Given the description of an element on the screen output the (x, y) to click on. 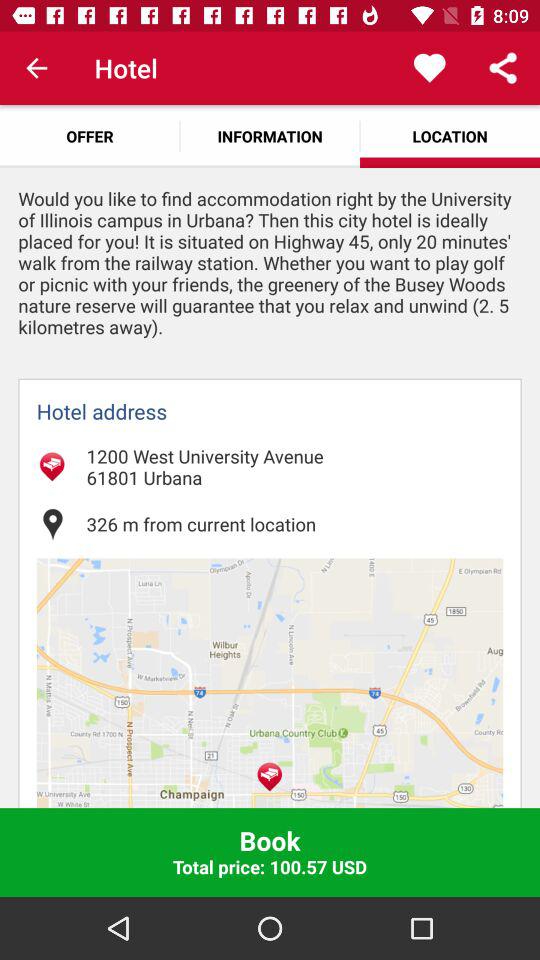
press information item (270, 136)
